Given the description of an element on the screen output the (x, y) to click on. 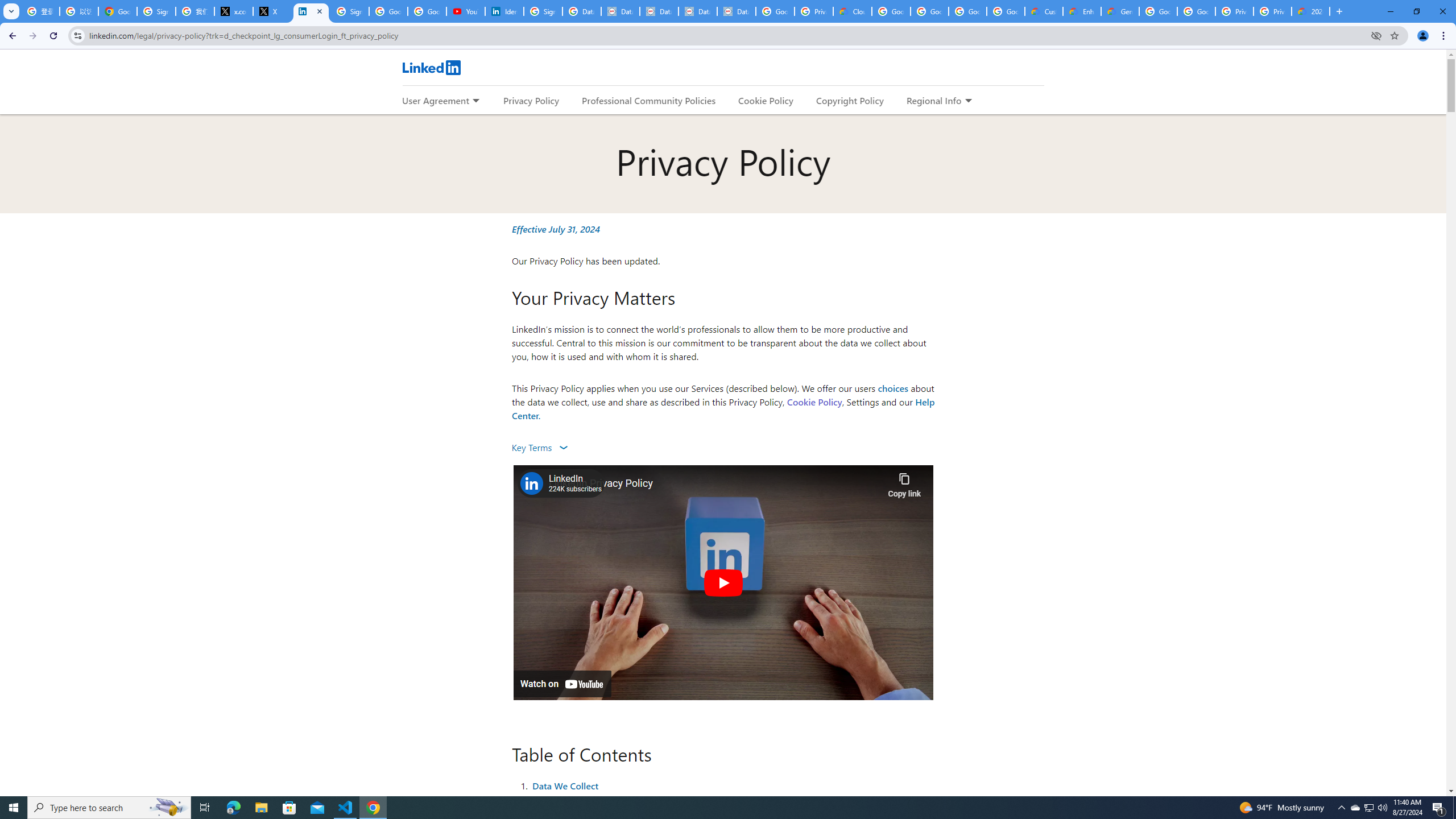
Cookie Policy (814, 401)
Identity verification via Persona | LinkedIn Help (504, 11)
Customer Care | Google Cloud (1043, 11)
Data We Collect (565, 784)
Third-party cookies blocked (1376, 35)
